Given the description of an element on the screen output the (x, y) to click on. 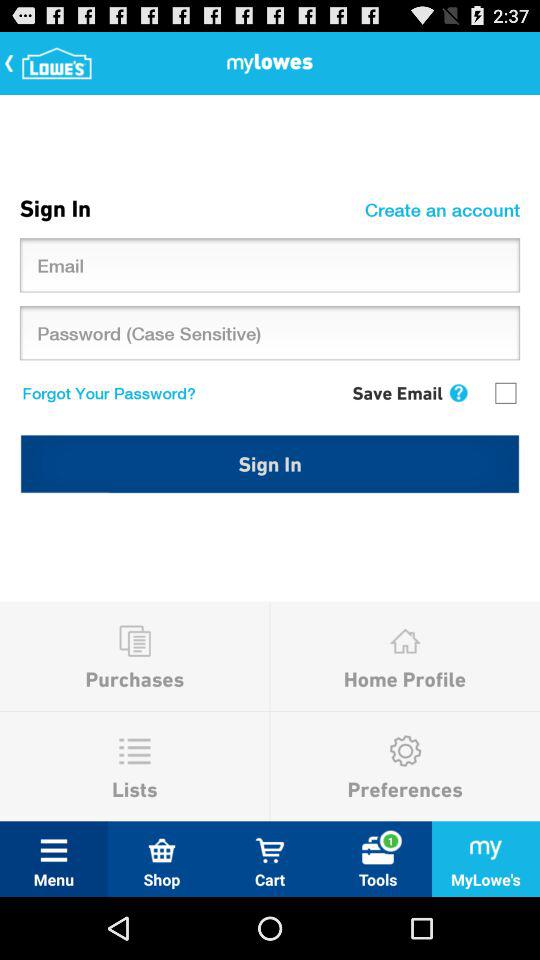
press icon above sign in (458, 392)
